Given the description of an element on the screen output the (x, y) to click on. 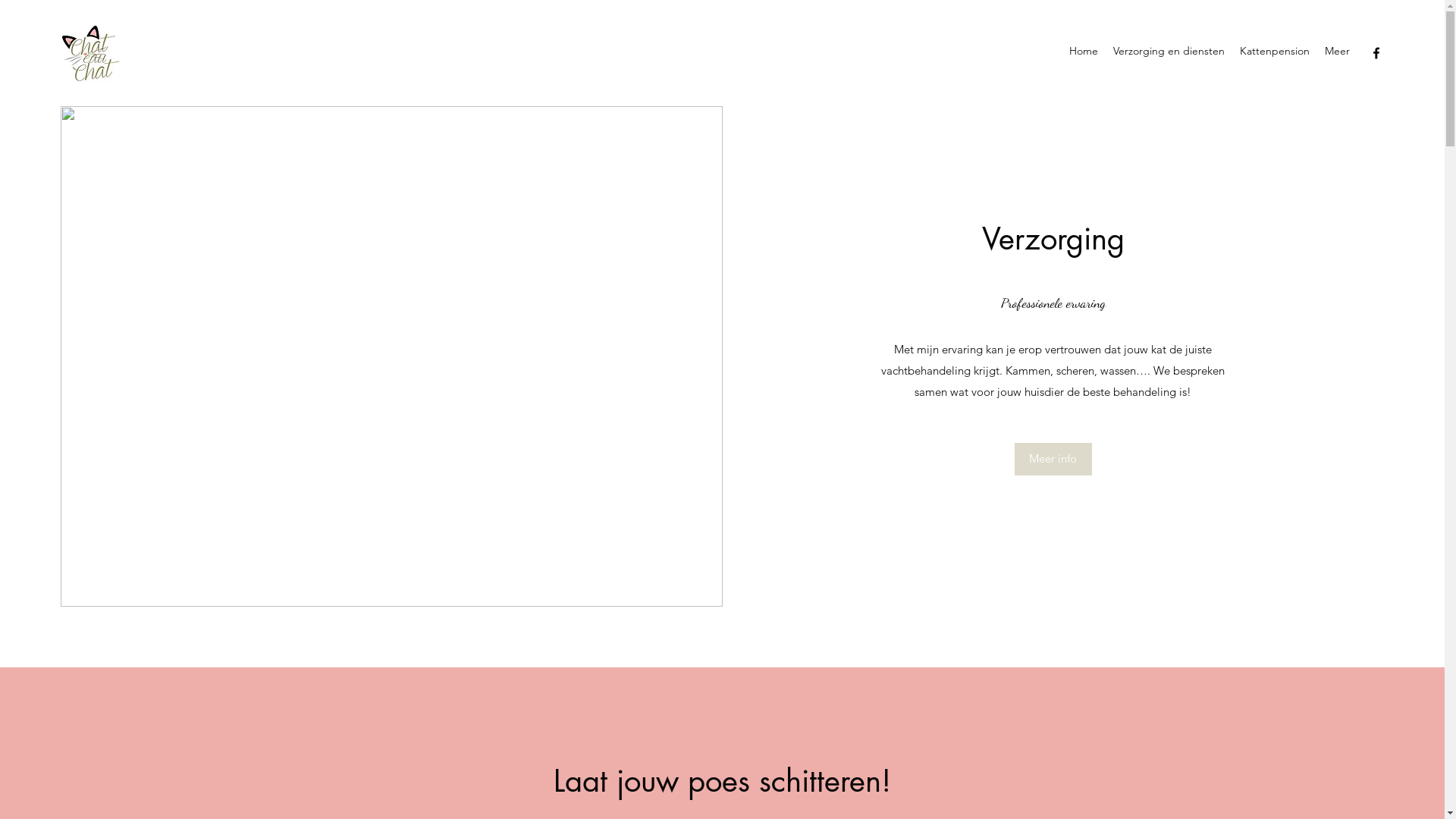
Meer info Element type: text (1052, 459)
Kattenpension Element type: text (1274, 52)
Home Element type: text (1083, 52)
Verzorging en diensten Element type: text (1168, 52)
